Given the description of an element on the screen output the (x, y) to click on. 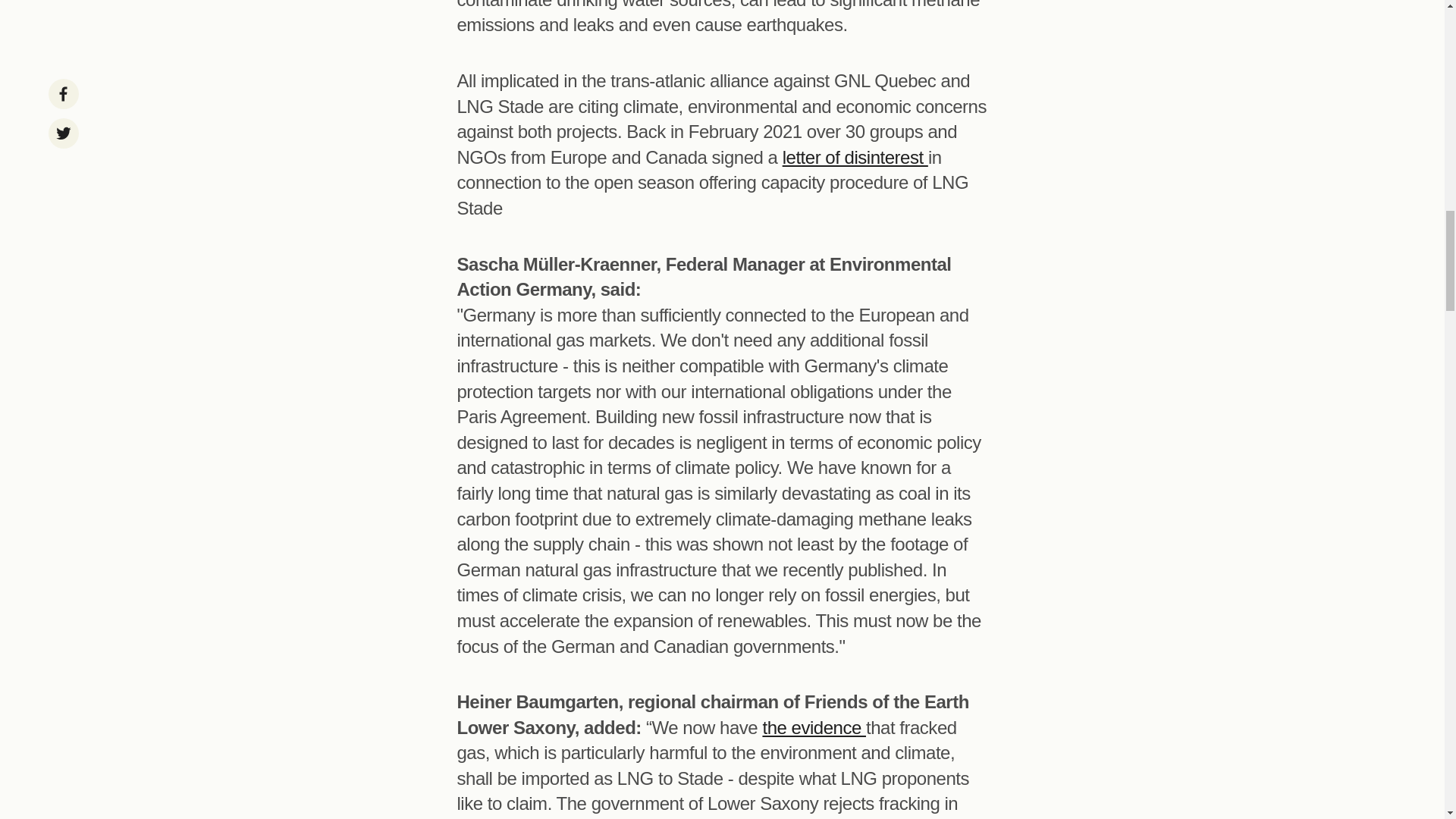
the evidence (813, 727)
letter of disinterest (855, 157)
